Given the description of an element on the screen output the (x, y) to click on. 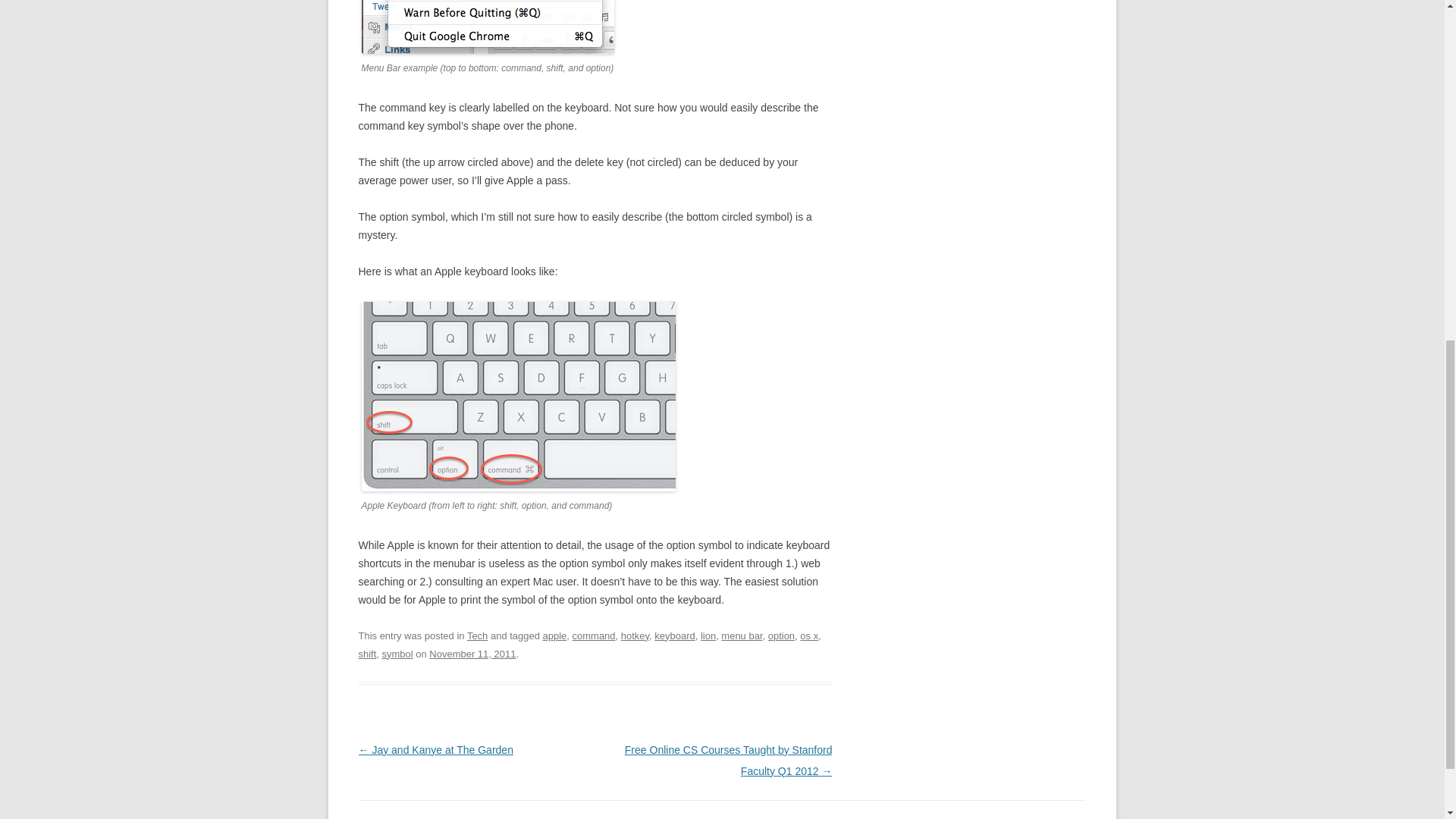
hotkey (635, 635)
lion (708, 635)
keyboard (518, 396)
command (593, 635)
symbol (397, 654)
apple (555, 635)
menu bar (740, 635)
November 11, 2011 (472, 654)
Tech (477, 635)
os x (808, 635)
